Given the description of an element on the screen output the (x, y) to click on. 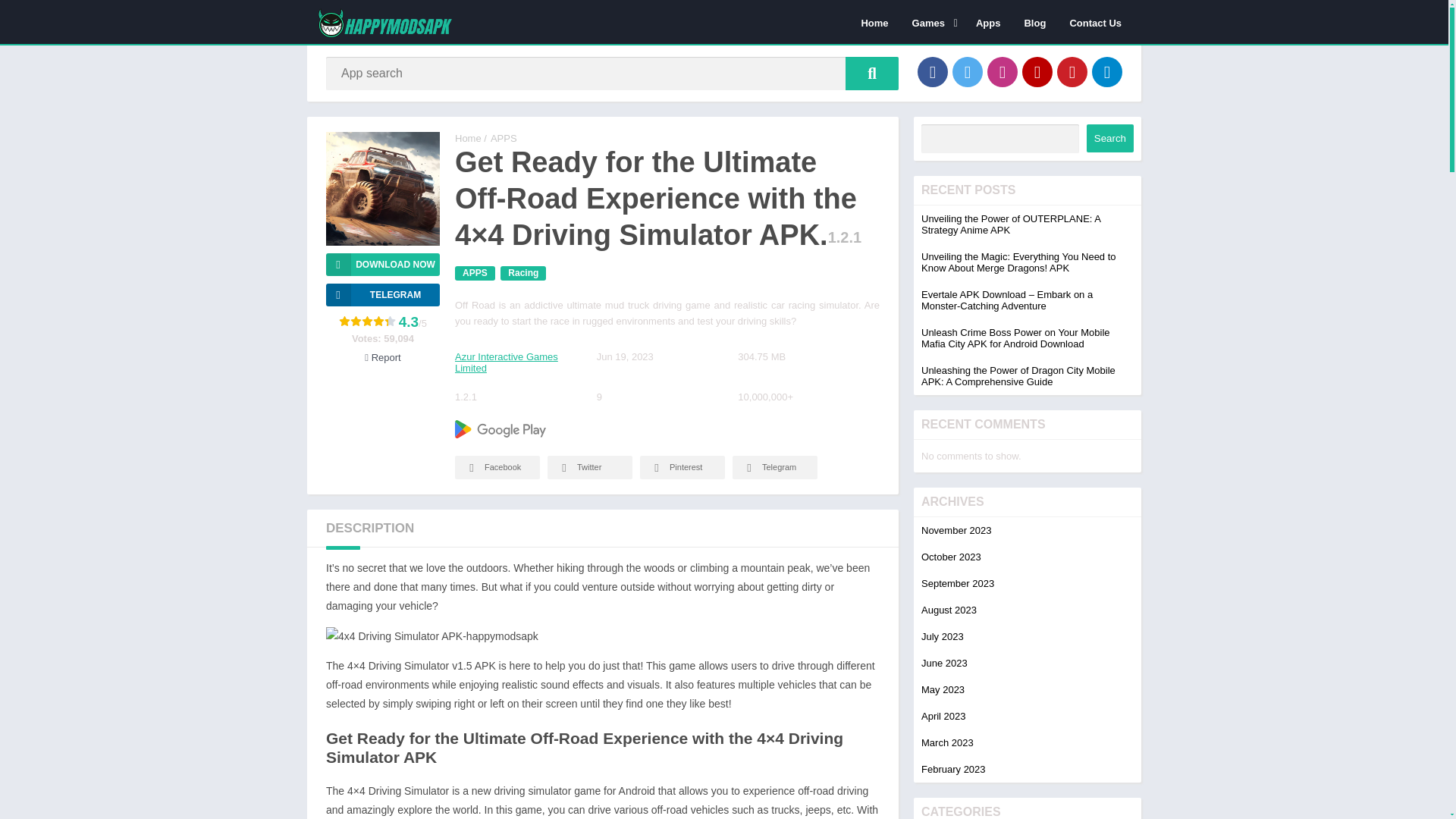
Blog (1034, 22)
Twitter (967, 71)
APPS (503, 138)
Apps (987, 22)
Telegram (1107, 71)
Azur Interactive Games Limited (505, 362)
TELEGRAM (382, 294)
Contact Us (1095, 22)
DOWNLOAD NOW (382, 264)
Home (873, 22)
Twitter (589, 467)
Instagram (1002, 71)
App search (871, 73)
Games (932, 22)
Download Now (382, 264)
